Given the description of an element on the screen output the (x, y) to click on. 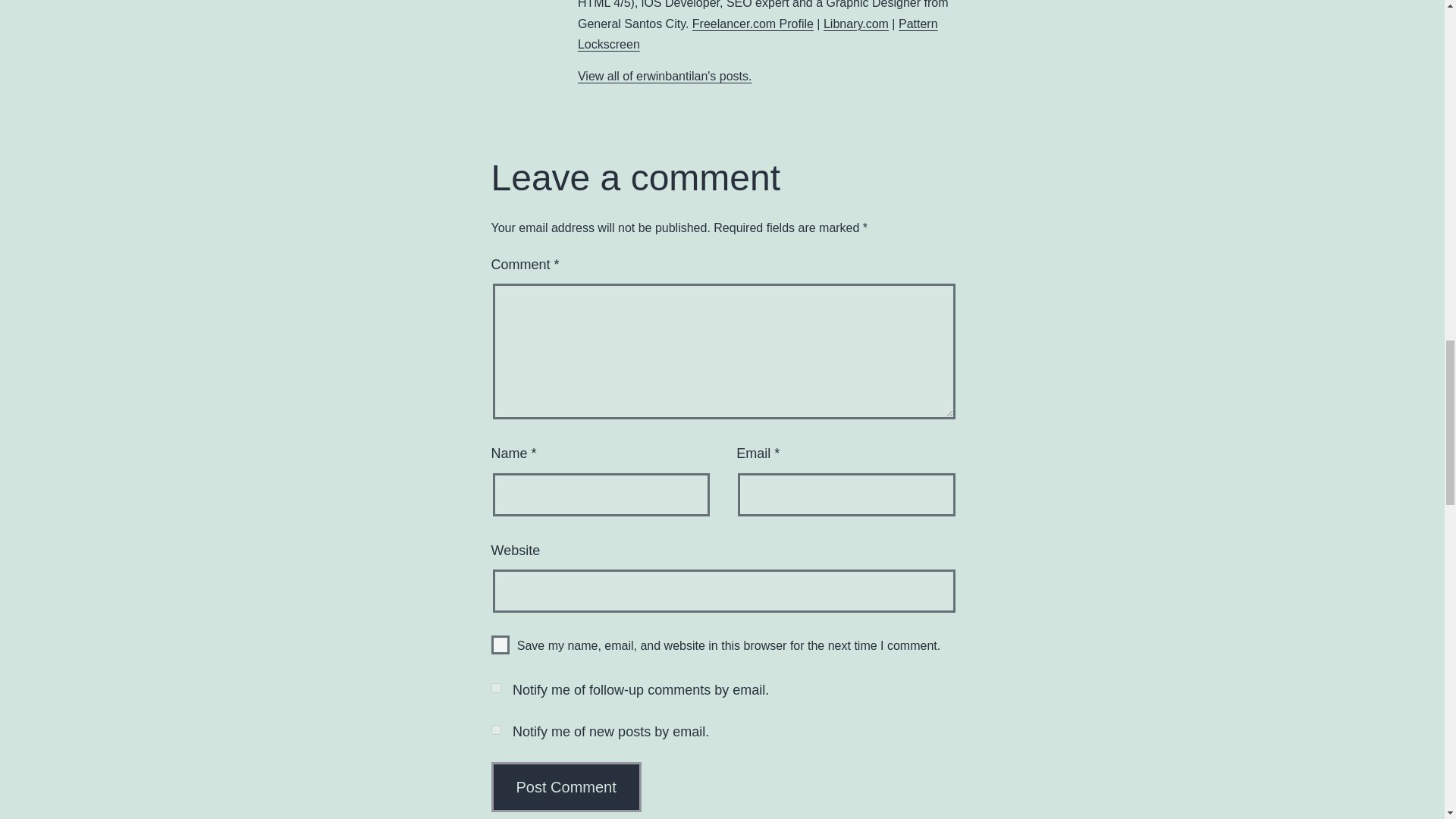
View all of erwinbantilan's posts. (665, 75)
Post Comment (567, 787)
Post Comment (567, 787)
yes (500, 644)
Pattern Lockscreen (757, 33)
Freelancer.com Profile (753, 23)
Libnary.com (856, 23)
